Given the description of an element on the screen output the (x, y) to click on. 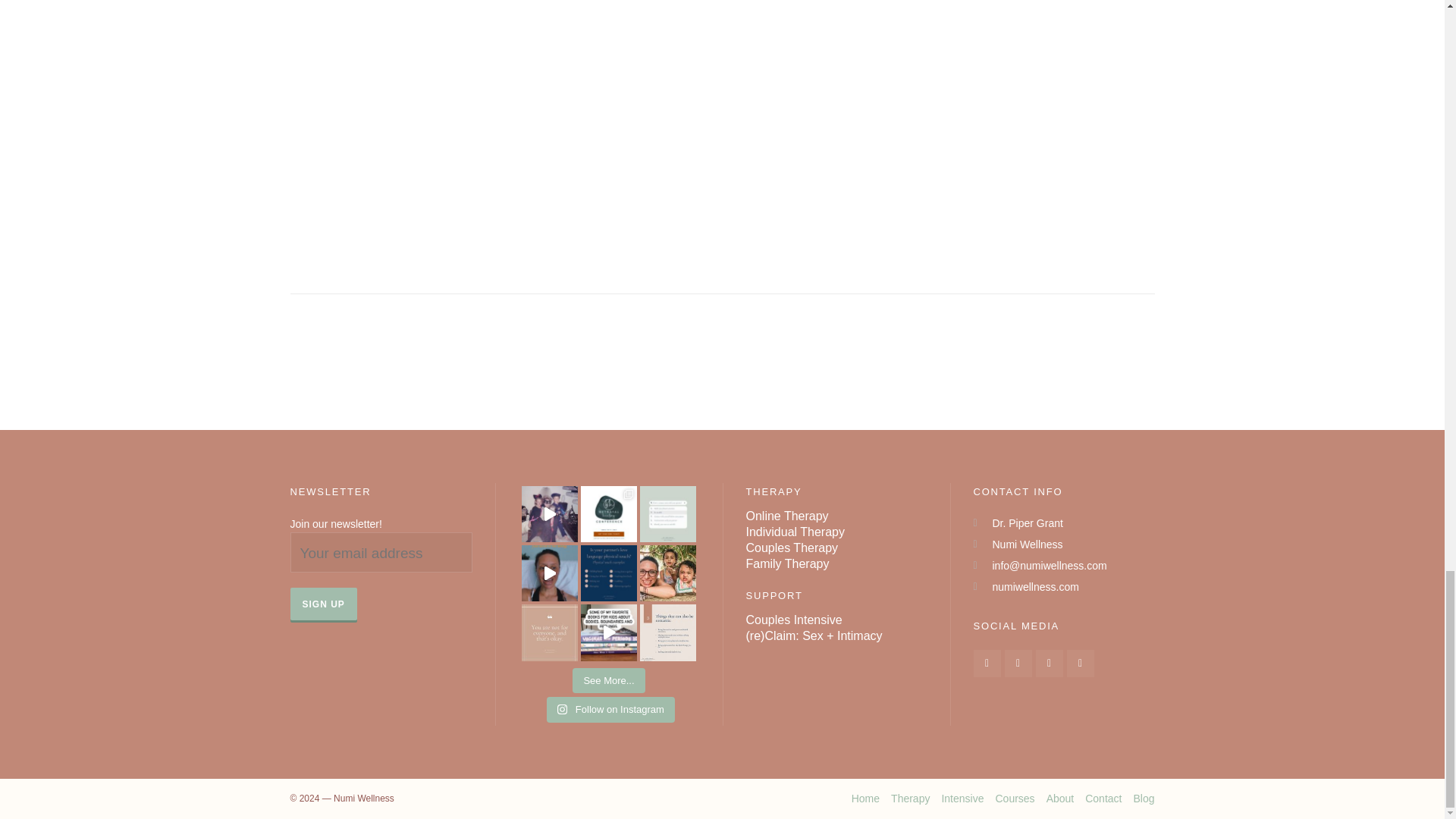
Sign up (322, 604)
